Given the description of an element on the screen output the (x, y) to click on. 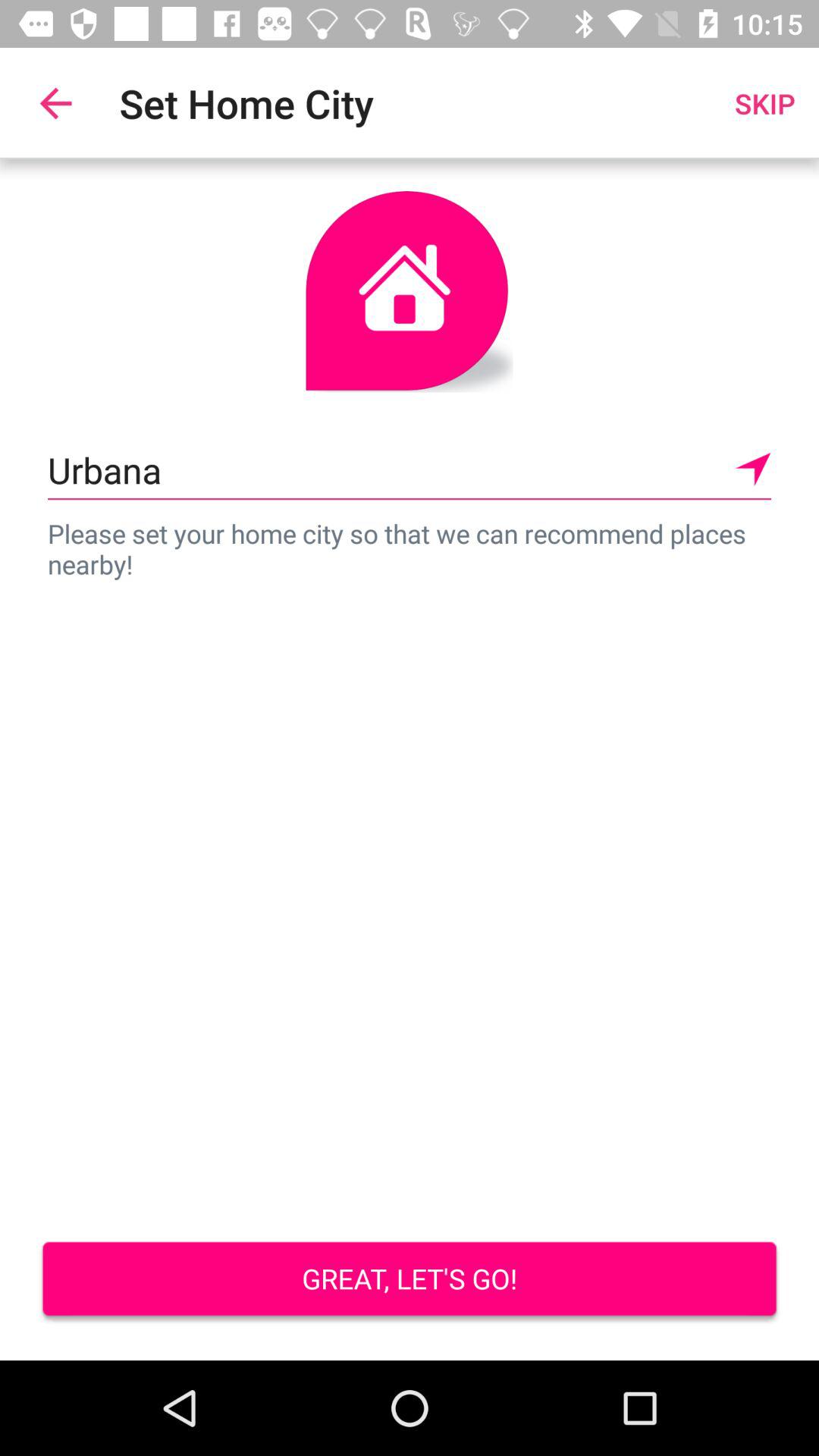
open icon above the urbana icon (764, 103)
